Given the description of an element on the screen output the (x, y) to click on. 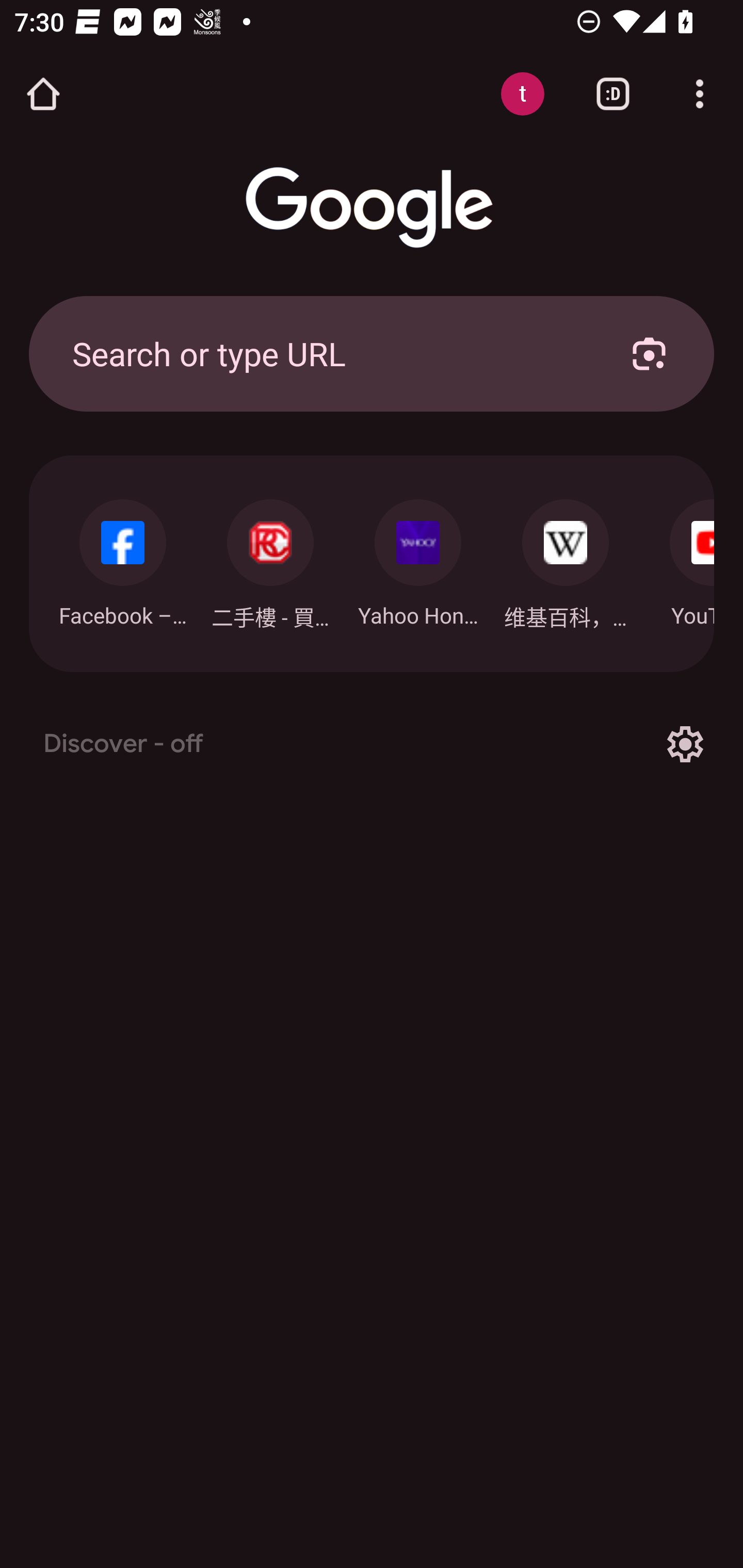
Open the home page (43, 93)
Switch or close tabs (612, 93)
Customize and control Google Chrome (699, 93)
Search or type URL (327, 353)
Search with your camera using Google Lens (648, 353)
Options for Discover (684, 743)
